Given the description of an element on the screen output the (x, y) to click on. 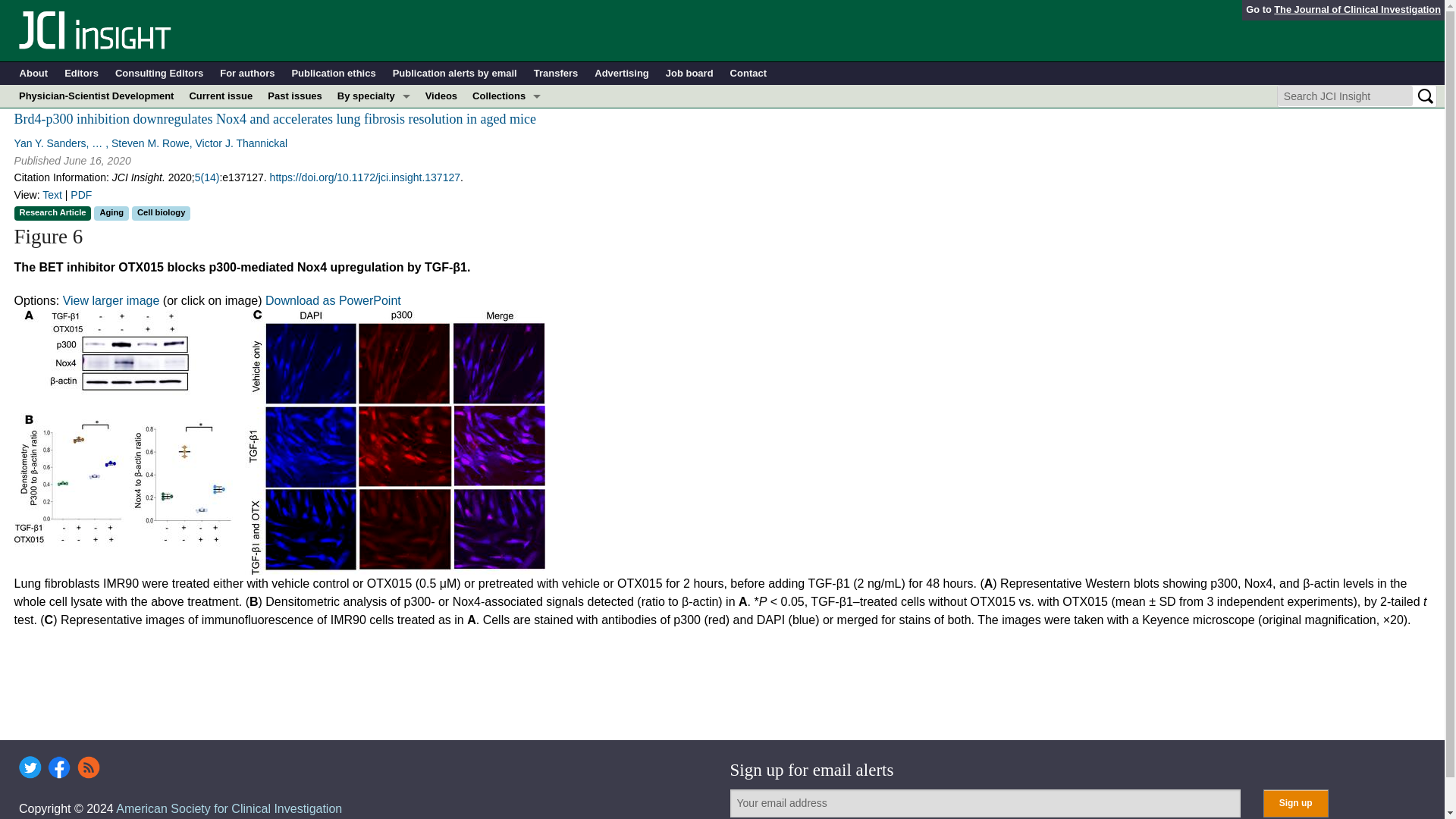
Twitter (30, 766)
Past issues (295, 96)
Resource and Technical Advances (506, 141)
In-Press Preview (506, 118)
Immunology (373, 164)
Oncology (373, 232)
COVID-19 (373, 118)
Advertising (621, 73)
About (34, 73)
Cardiology (373, 141)
Clinical Medicine (506, 164)
The Journal of Clinical Investigation (1357, 9)
Top read articles (506, 277)
Job board (689, 73)
Collections (506, 96)
